Given the description of an element on the screen output the (x, y) to click on. 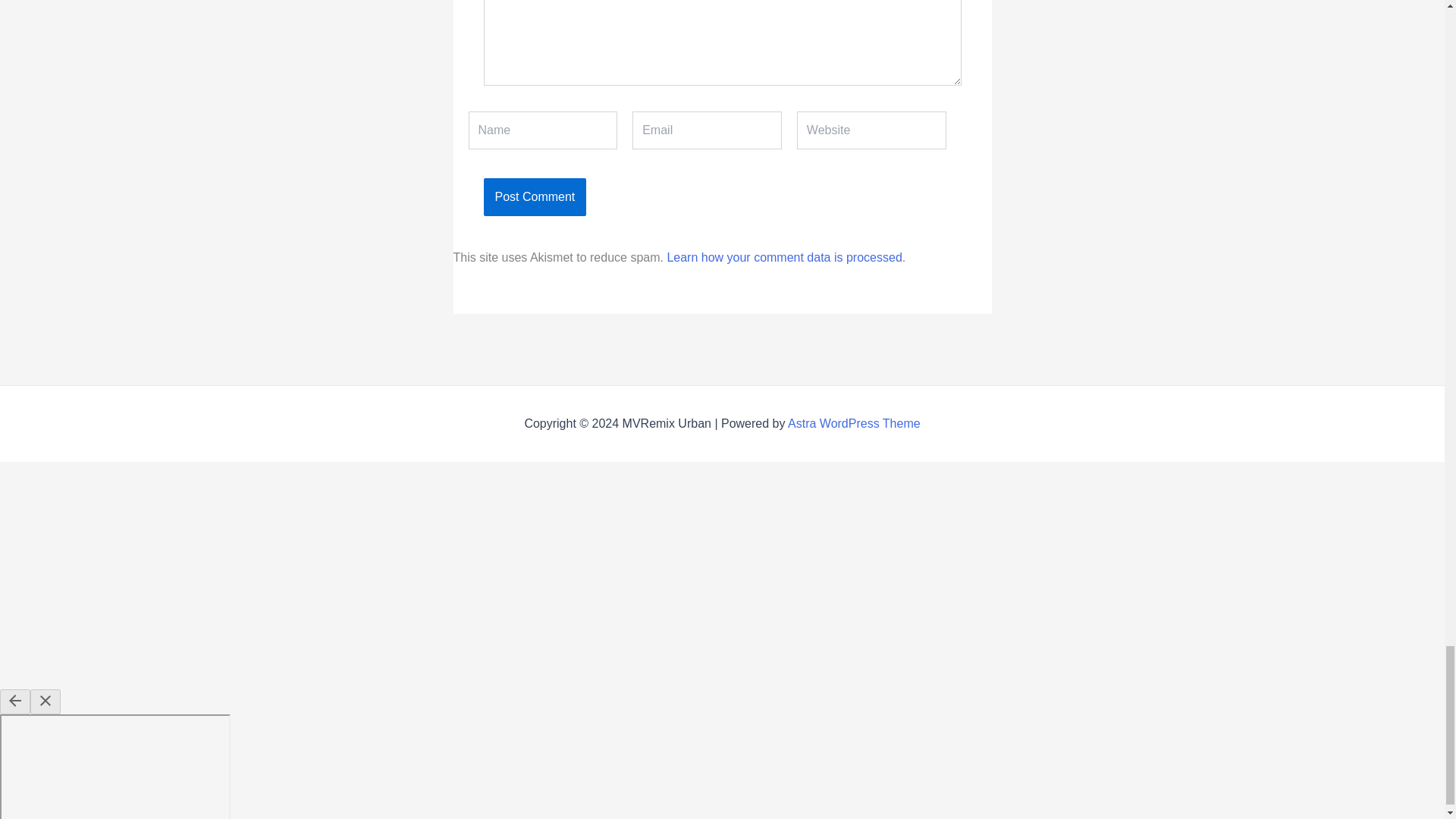
Post Comment (534, 197)
Astra WordPress Theme (853, 422)
Post Comment (534, 197)
Learn how your comment data is processed (783, 256)
